Given the description of an element on the screen output the (x, y) to click on. 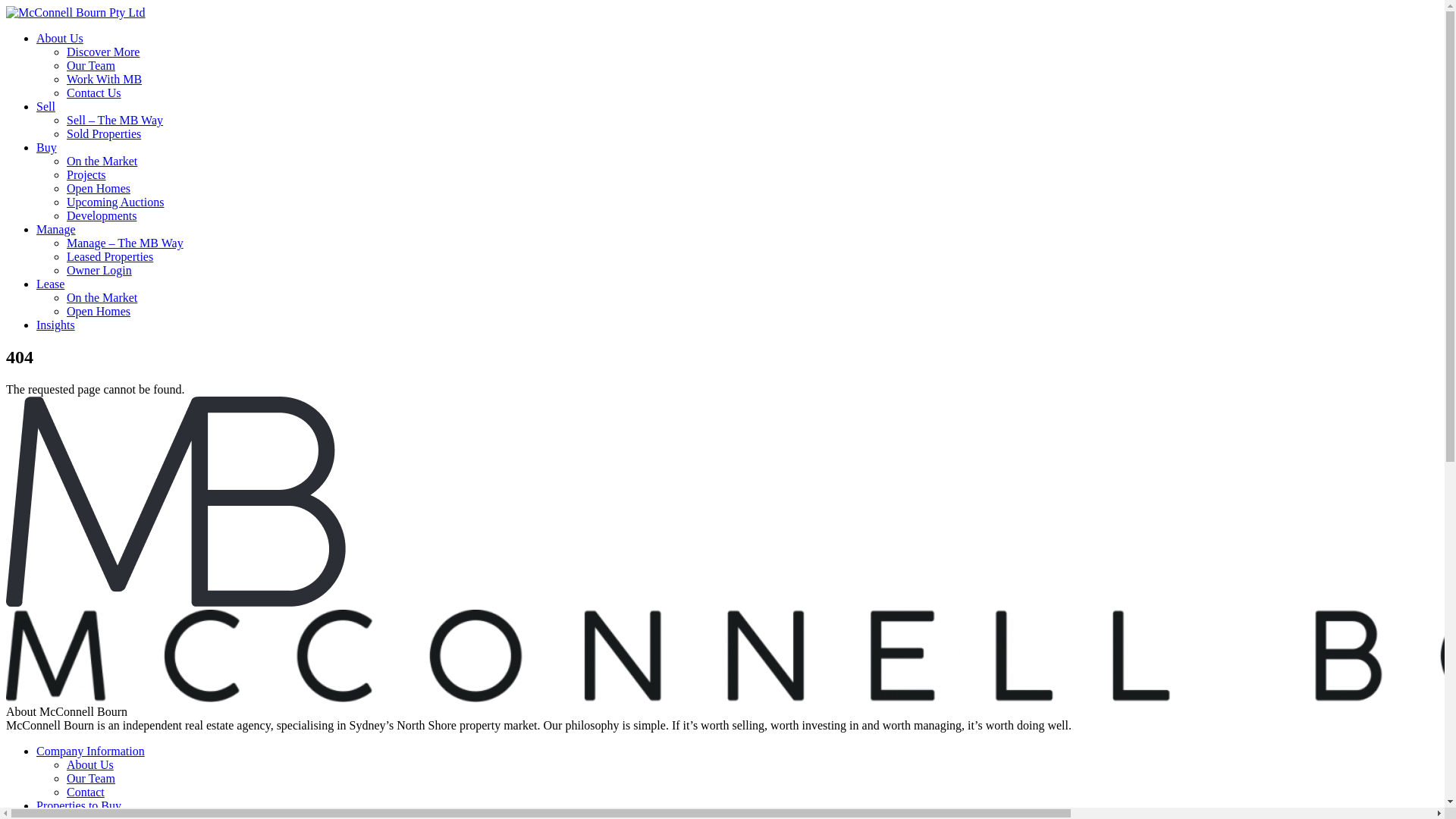
Our Team Element type: text (90, 65)
Sold Properties Element type: text (103, 133)
Contact Element type: text (85, 791)
Upcoming Auctions Element type: text (114, 201)
On the Market Element type: text (101, 160)
Insights Element type: text (55, 324)
Manage Element type: text (55, 228)
Projects Element type: text (86, 174)
On the Market Element type: text (101, 297)
Developments Element type: text (101, 215)
Owner Login Element type: text (98, 269)
Discover More Element type: text (102, 51)
Open Homes Element type: text (98, 310)
Lease Element type: text (50, 283)
Contact Us Element type: text (93, 92)
Our Team Element type: text (90, 777)
About Us Element type: text (59, 37)
Work With MB Element type: text (103, 78)
Leased Properties Element type: text (109, 256)
Sell Element type: text (45, 106)
Properties to Buy Element type: text (78, 805)
Open Homes Element type: text (98, 188)
Buy Element type: text (46, 147)
Company Information Element type: text (90, 750)
About Us Element type: text (89, 764)
